Given the description of an element on the screen output the (x, y) to click on. 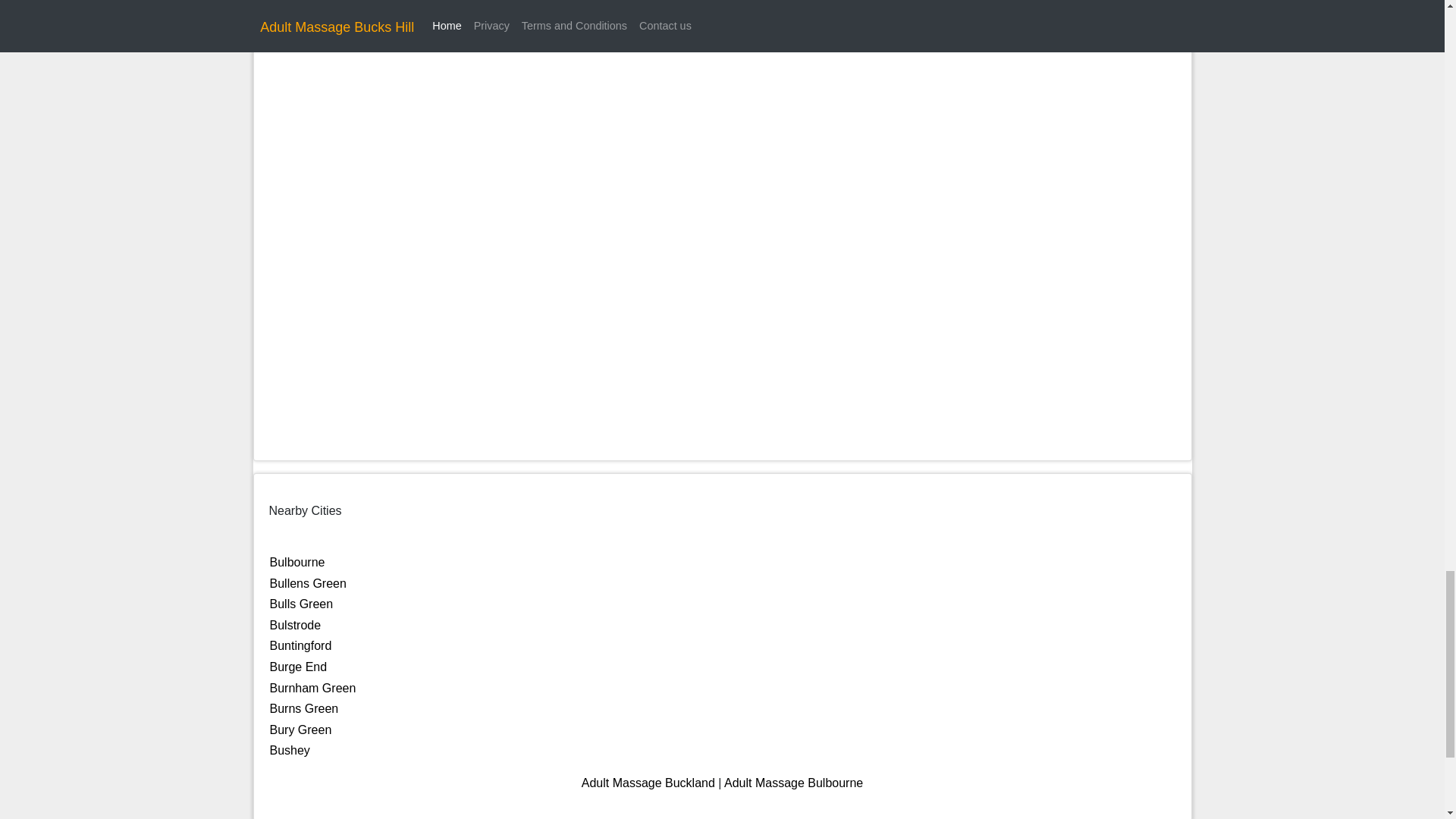
Bury Green (300, 729)
Bullens Green (307, 583)
Adult Massage Buckland (647, 782)
Burns Green (304, 707)
Bulls Green (301, 603)
Adult Massage Bulbourne (793, 782)
Bulstrode (295, 625)
Burnham Green (312, 687)
Bulbourne (296, 562)
Burge End (298, 666)
Buntingford (300, 645)
Bushey (289, 749)
